Given the description of an element on the screen output the (x, y) to click on. 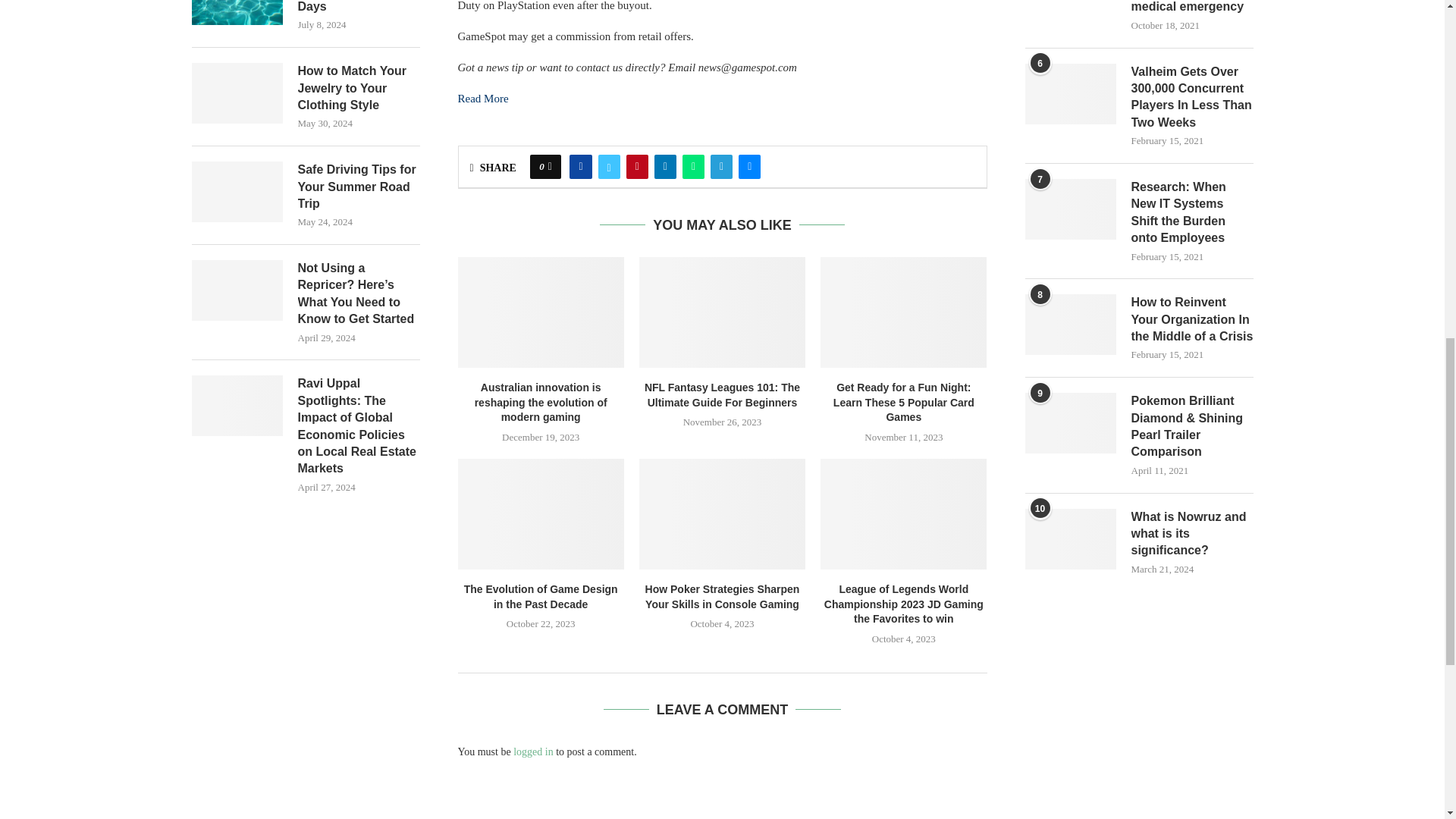
NFL Fantasy Leagues 101: The Ultimate Guide For Beginners (722, 312)
How Poker Strategies Sharpen Your Skills in Console Gaming (722, 513)
The Evolution of Game Design in the Past Decade (541, 513)
Get Ready for a Fun Night: Learn These 5 Popular Card Games (904, 312)
